Given the description of an element on the screen output the (x, y) to click on. 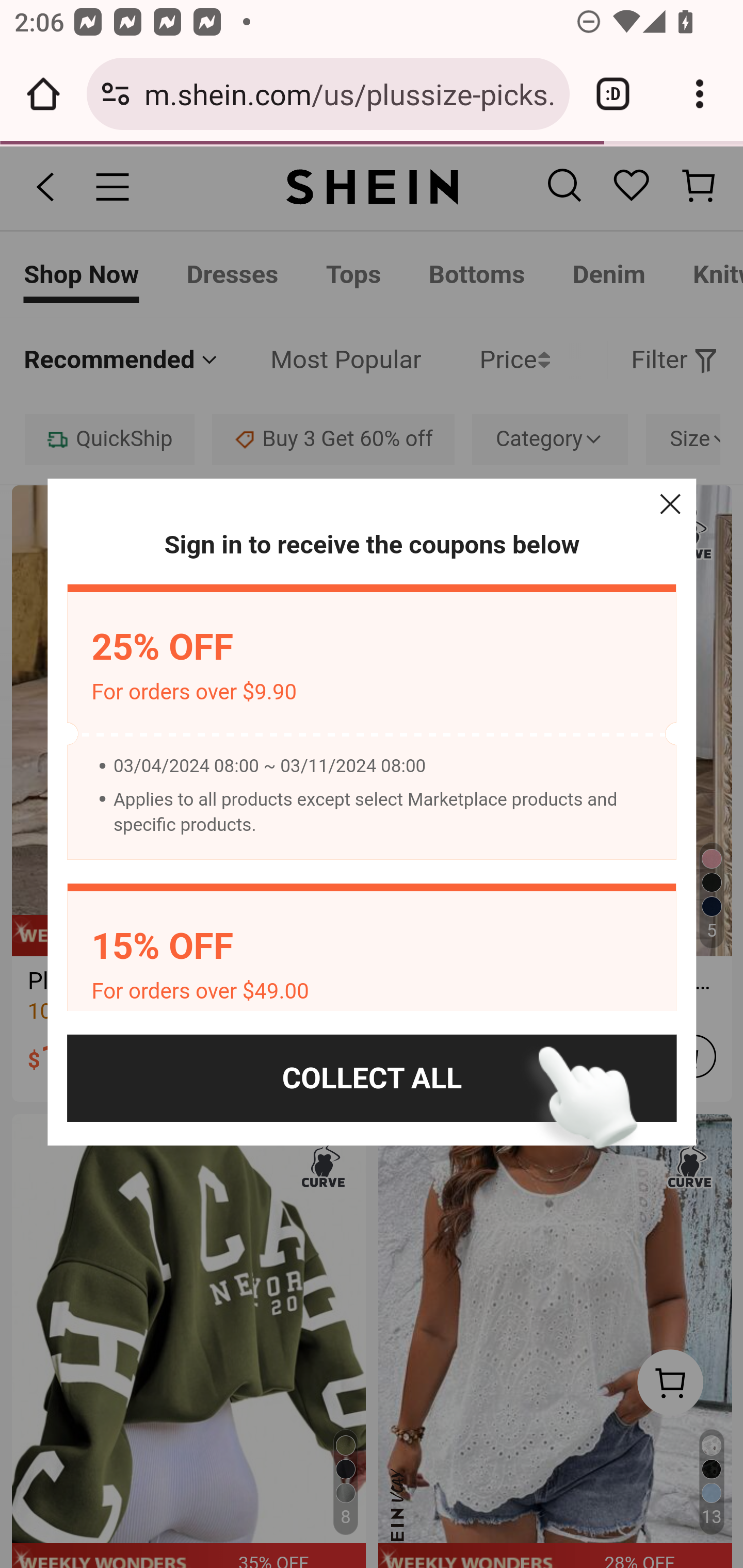
Open the home page (43, 93)
Connection is secure (115, 93)
Switch or close tabs (612, 93)
Customize and control Google Chrome (699, 93)
